Given the description of an element on the screen output the (x, y) to click on. 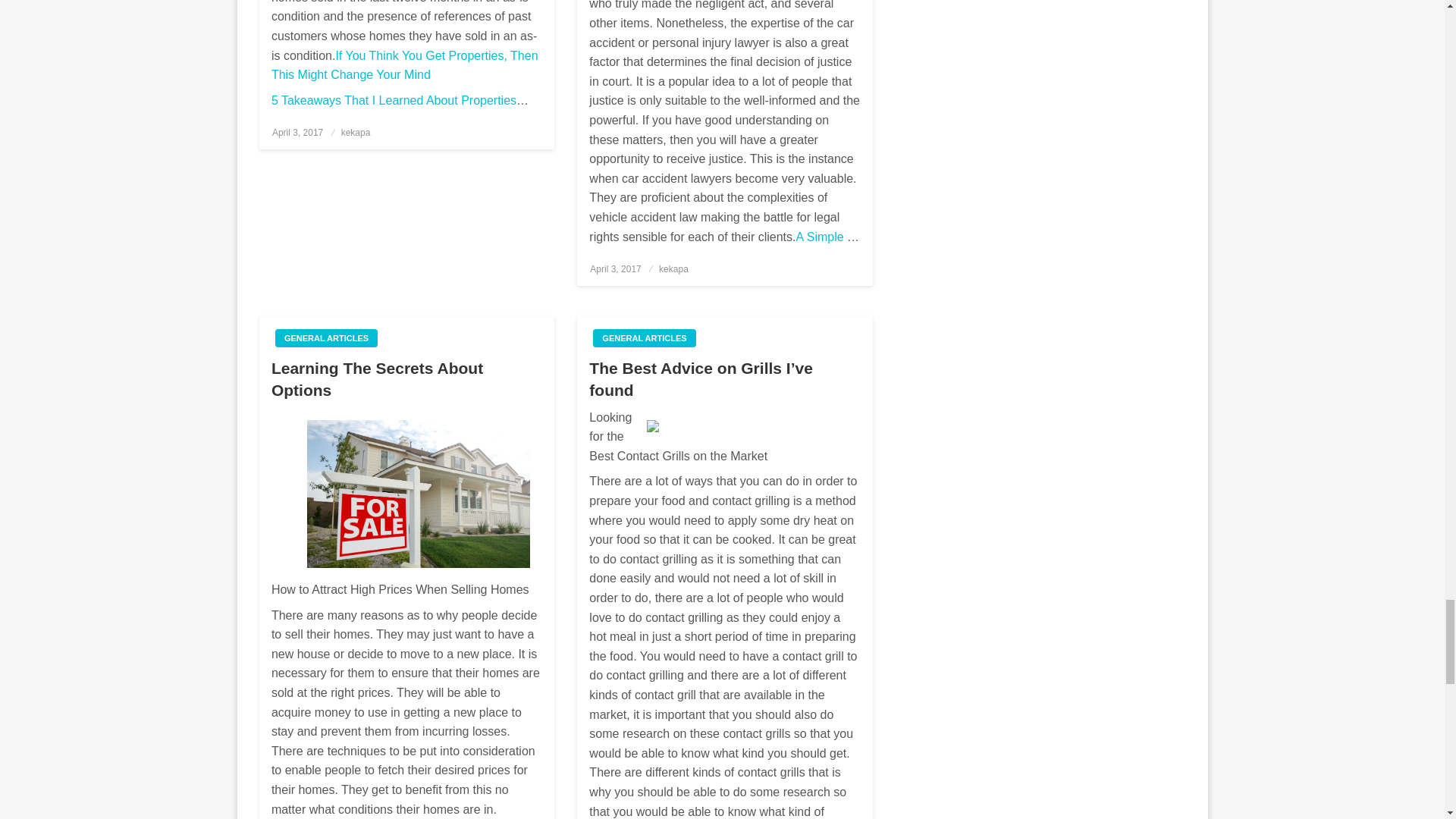
kekapa (673, 268)
kekapa (355, 132)
